Given the description of an element on the screen output the (x, y) to click on. 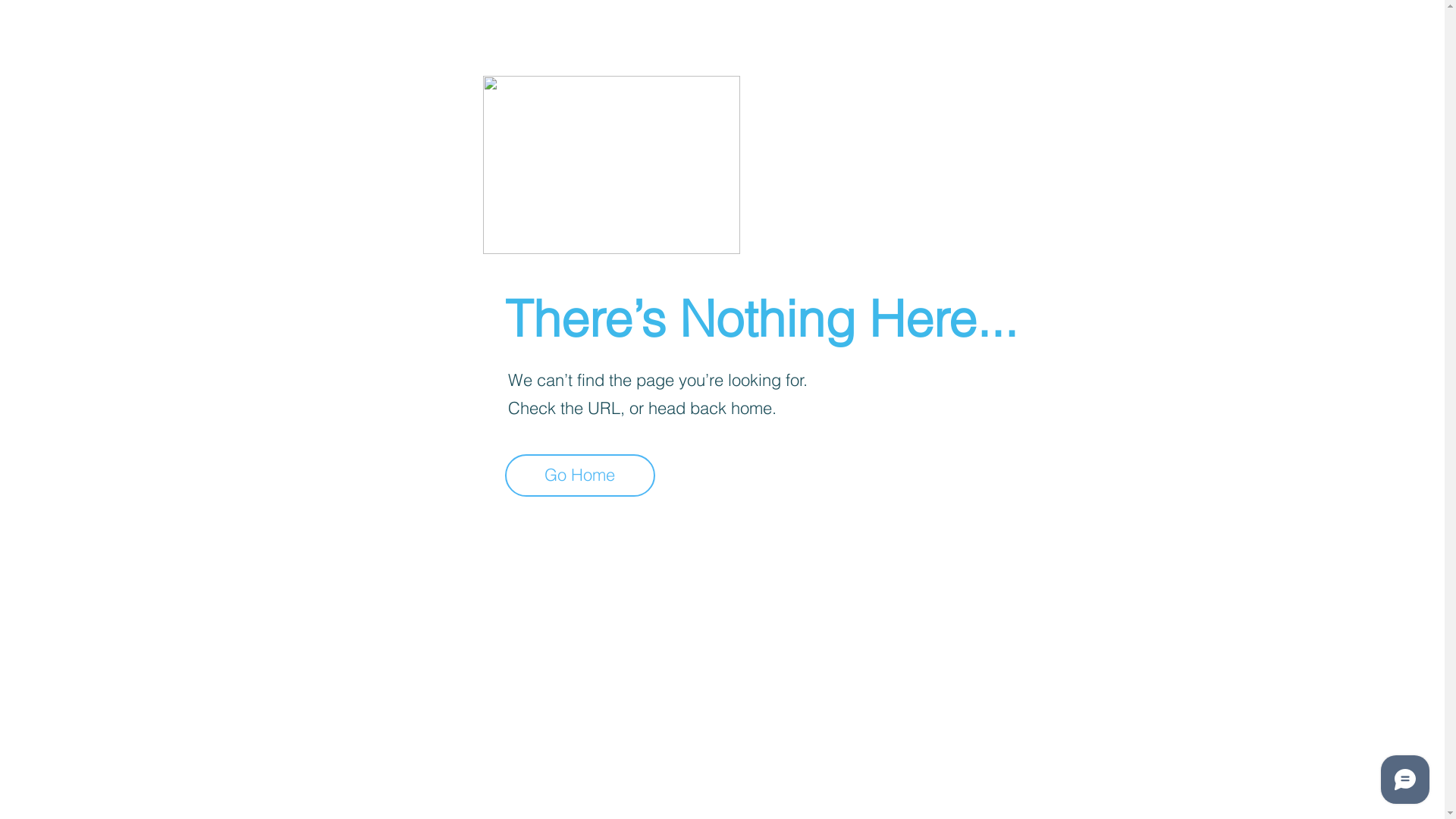
Go Home Element type: text (580, 475)
404-icon_2.png Element type: hover (610, 164)
